Given the description of an element on the screen output the (x, y) to click on. 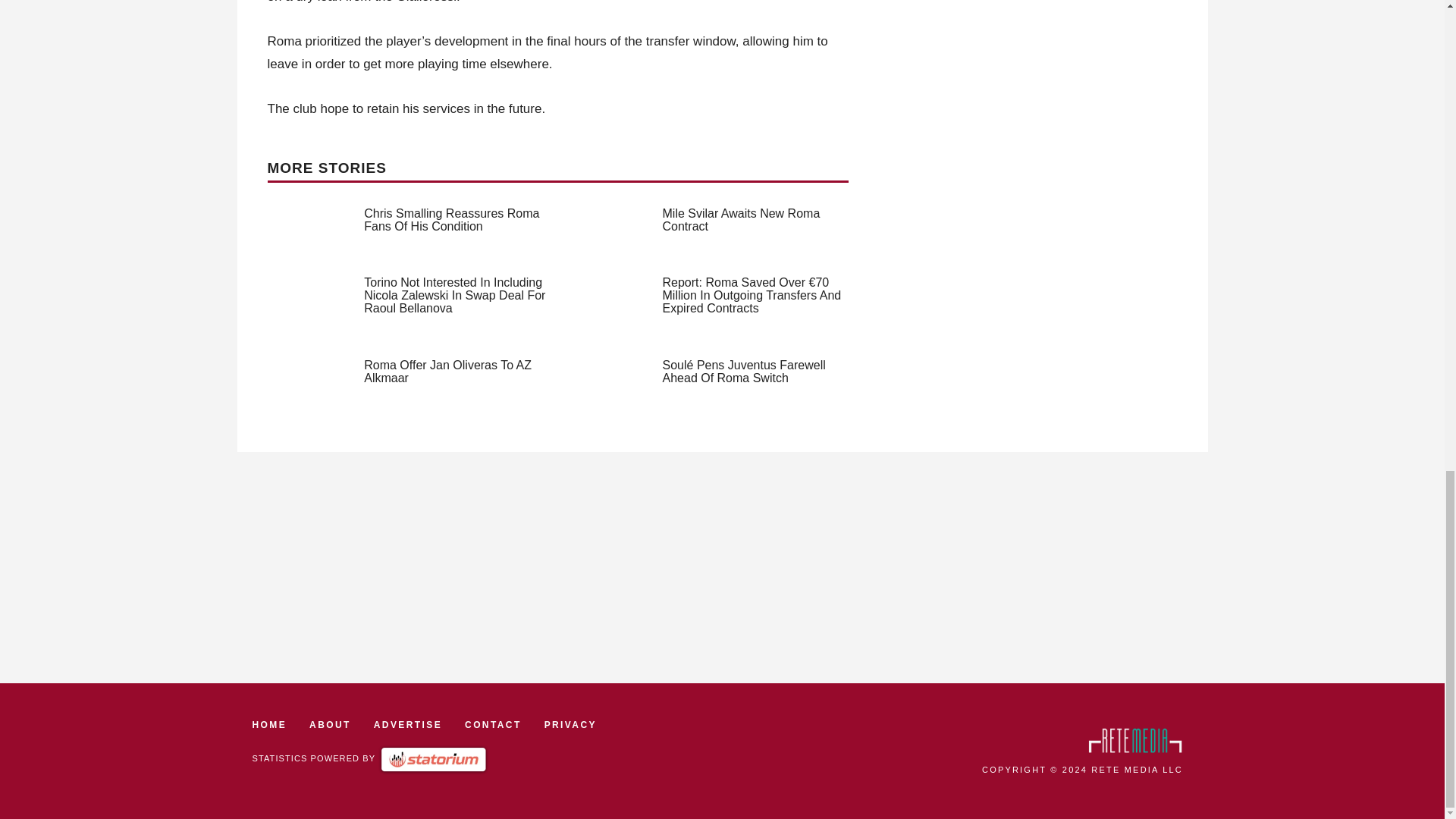
ABOUT (329, 725)
HOME (268, 725)
ADVERTISE (408, 725)
Chris Smalling Reassures Roma Fans Of His Condition (451, 219)
CONTACT (492, 725)
Mile Svilar Awaits New Roma Contract (741, 219)
PRIVACY (570, 725)
Roma Offer Jan Oliveras To AZ Alkmaar (447, 371)
